Given the description of an element on the screen output the (x, y) to click on. 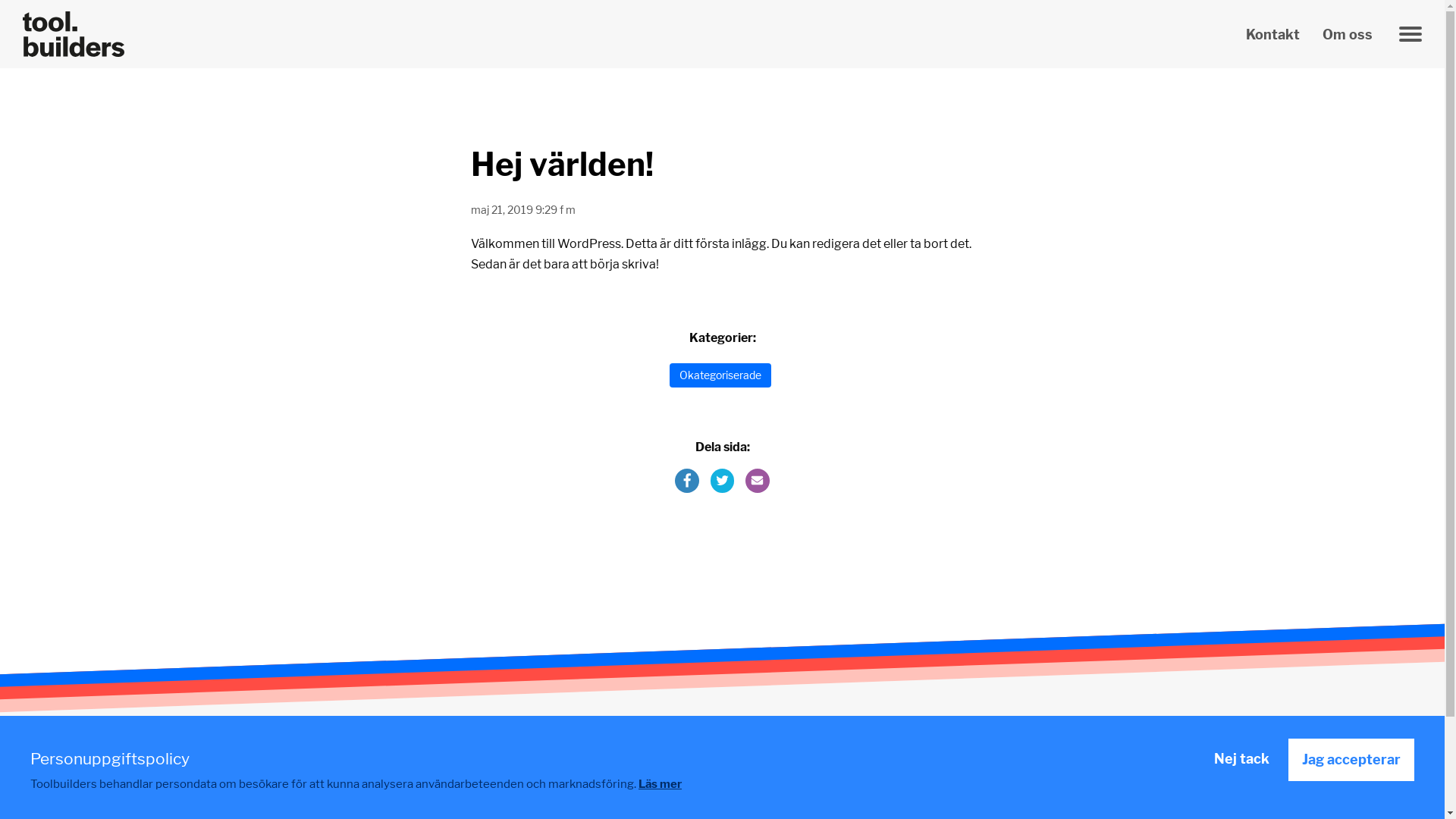
Jag accepterar Element type: text (1351, 759)
info@tool.builders Element type: text (722, 804)
Okategoriserade Element type: text (720, 375)
Nej tack Element type: text (1241, 758)
Om oss Element type: text (1347, 34)
Dela via e-post Element type: hover (757, 480)
Kontakt Element type: text (1272, 34)
